Given the description of an element on the screen output the (x, y) to click on. 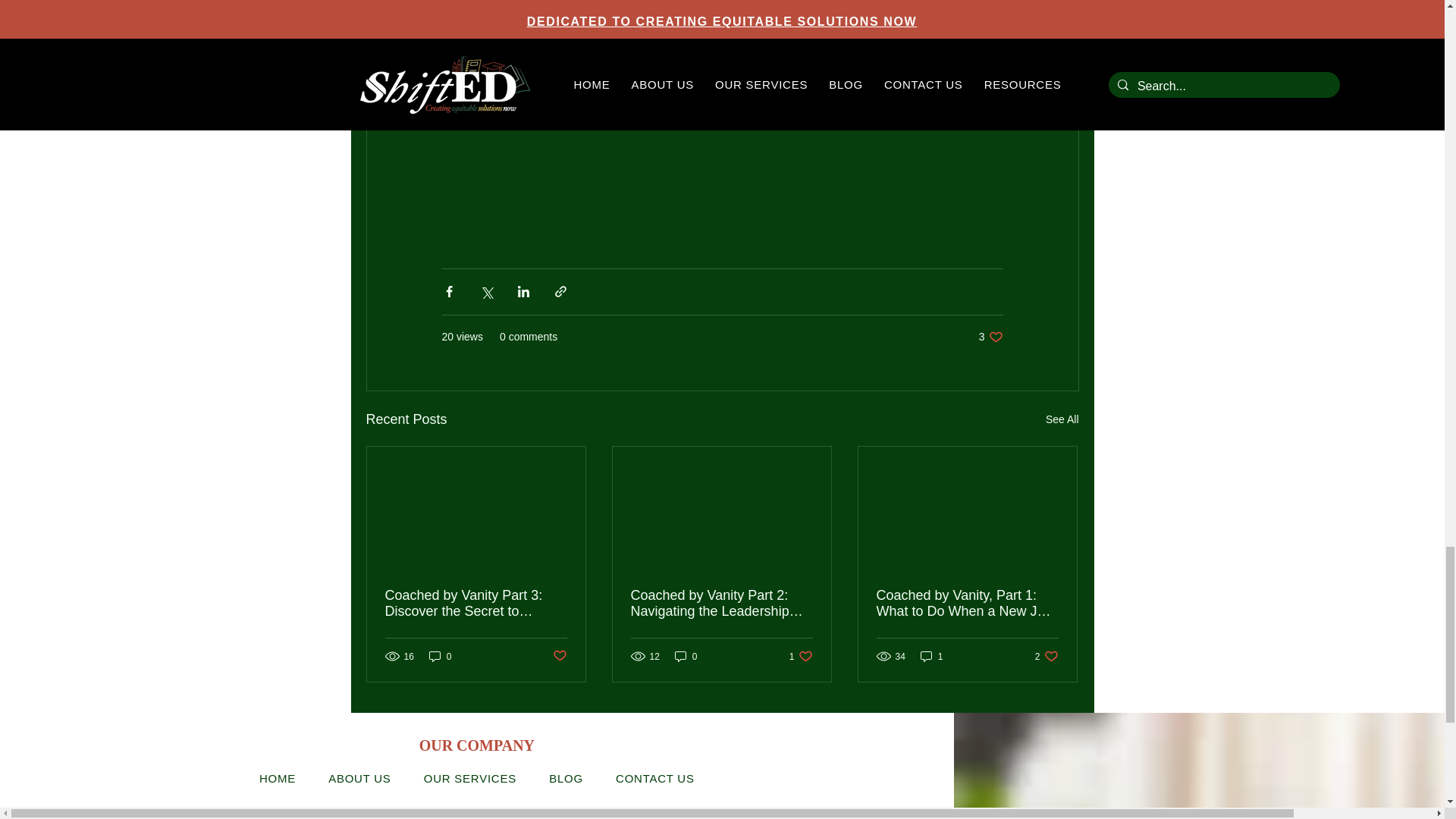
See All (990, 336)
1 (1061, 419)
BLOG (800, 656)
0 (931, 656)
ABOUT US (565, 778)
Post not marked as liked (685, 656)
HOME (359, 778)
OUR SERVICES (558, 656)
